Given the description of an element on the screen output the (x, y) to click on. 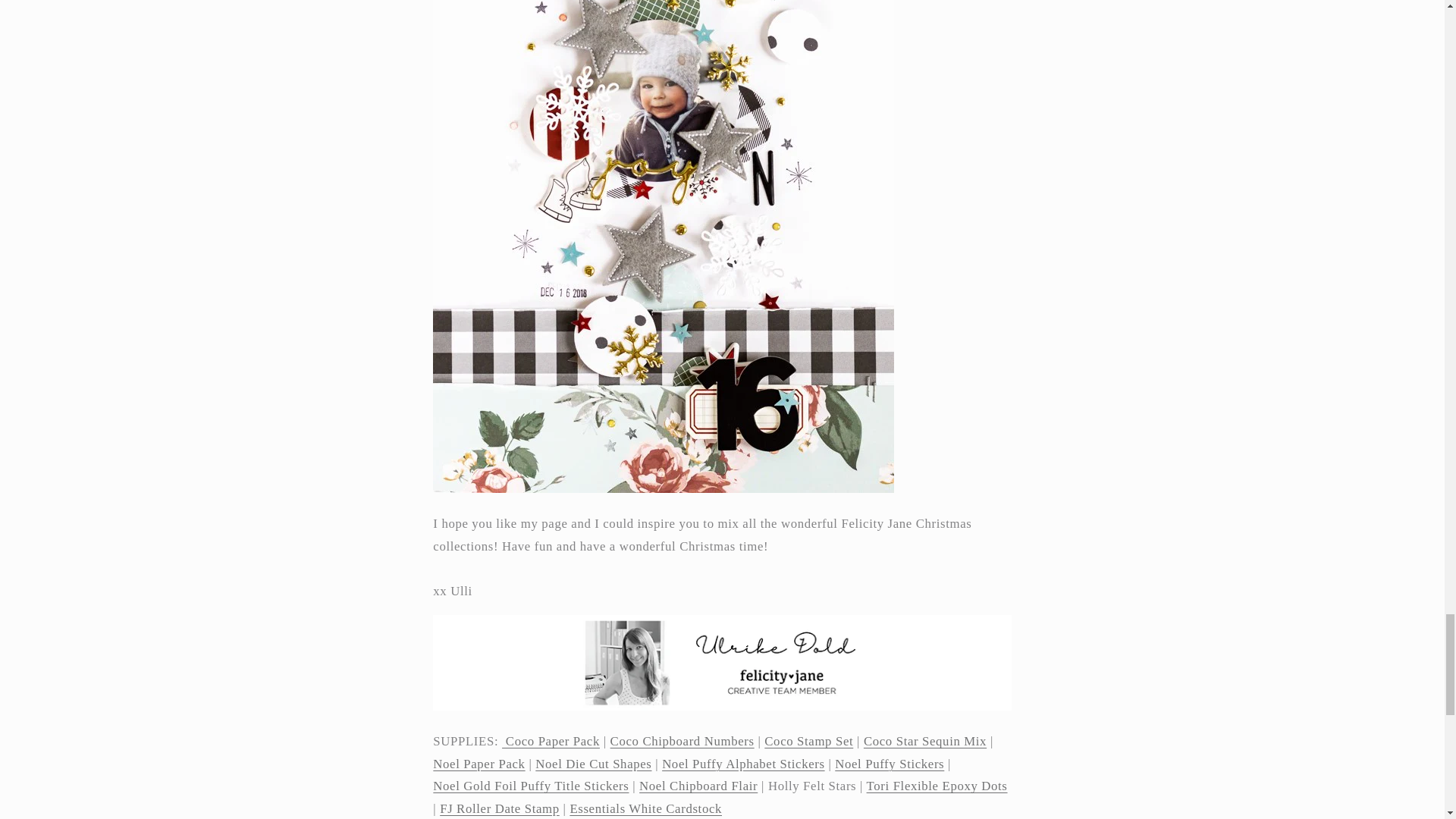
Tori Flexible Epoxy Dots (936, 785)
Essentials White Cardstock (645, 808)
Noel Puffy Stickers (888, 763)
Noel Puffy Alphabet Stickers (743, 763)
Noel Chipboard Flair (698, 785)
Coco Paper Pack (550, 740)
Coco Chipboard Numbers (682, 740)
Noel Paper Pack (478, 763)
Star Sequin Mix (925, 740)
FJ Roller Date Stamp (499, 808)
Coco Paper Pack (550, 740)
Coco Chipboard Numbers (682, 740)
Noel Puffy Alphabet Stickers (743, 763)
Noel Die Cut Shapes (592, 763)
Noel Gold Foil Puffy Title Stickers (530, 785)
